Given the description of an element on the screen output the (x, y) to click on. 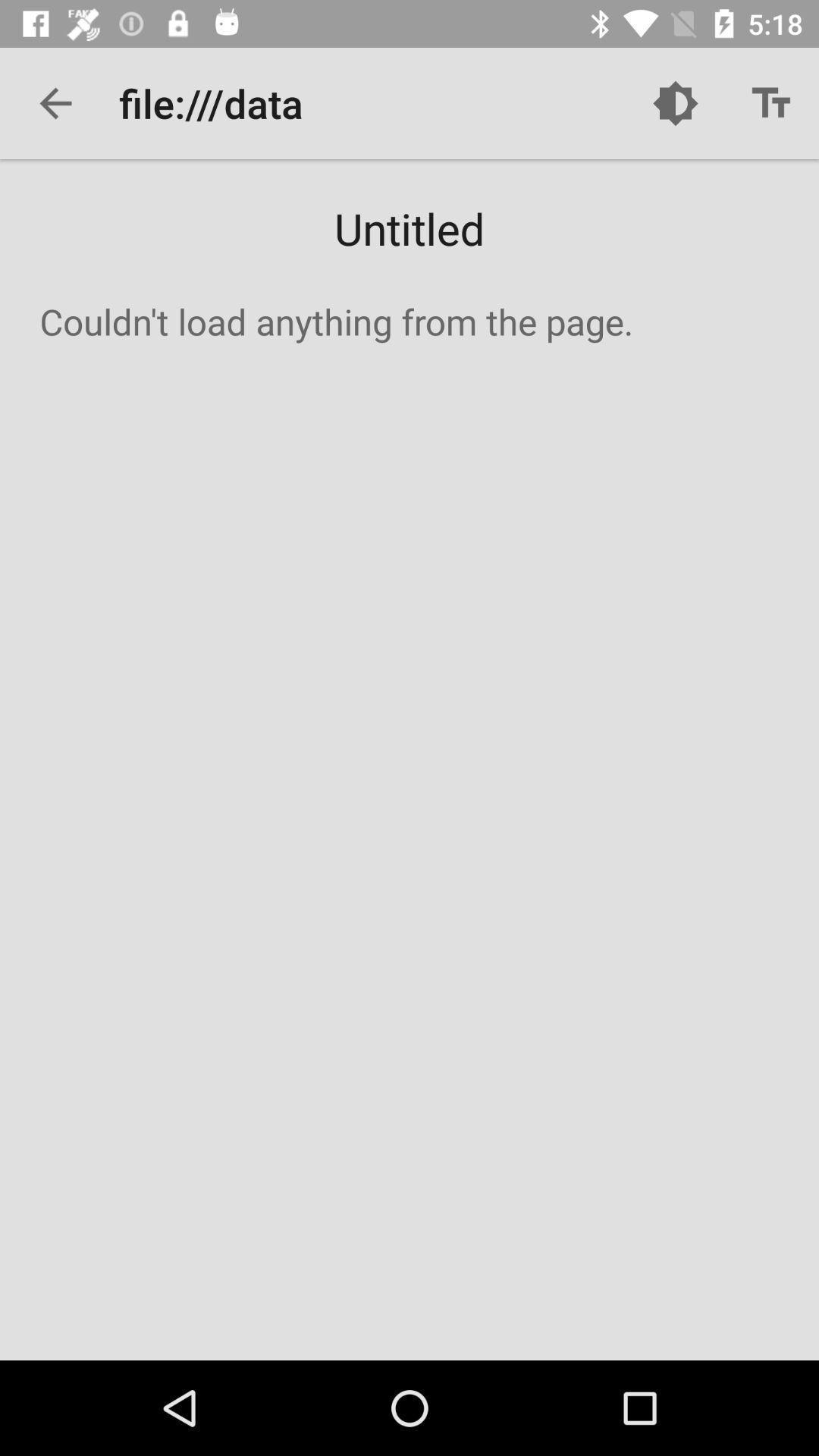
turn off the icon above untitled (675, 103)
